Given the description of an element on the screen output the (x, y) to click on. 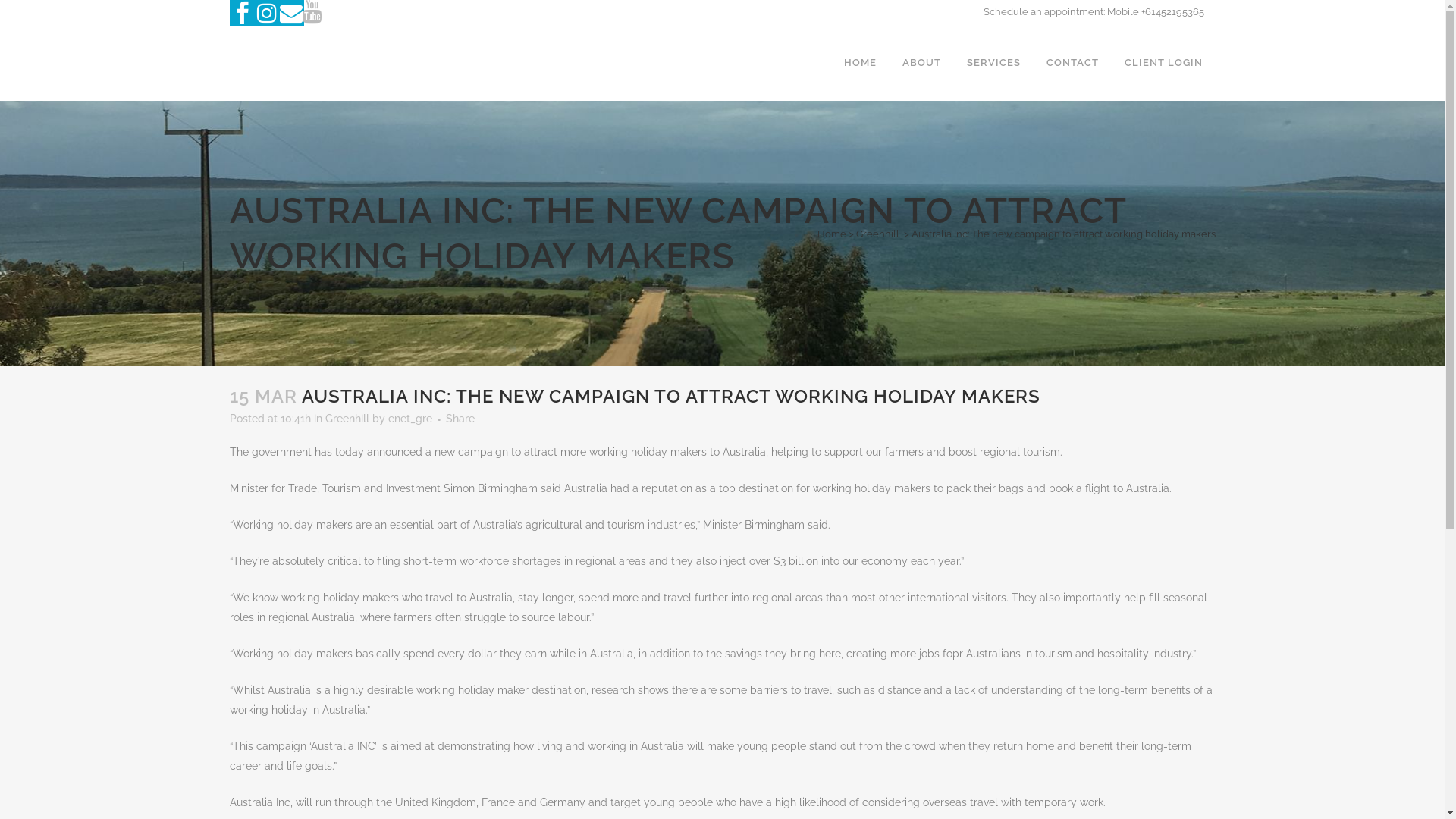
CLIENT LOGIN Element type: text (1163, 62)
SERVICES Element type: text (993, 62)
ABOUT Element type: text (920, 62)
CONTACT Element type: text (1071, 62)
enet_gre Element type: text (410, 418)
Home Element type: text (831, 232)
Share Element type: text (459, 418)
Greenhill Element type: text (346, 418)
Greenhill Element type: text (876, 232)
HOME Element type: text (860, 62)
